Given the description of an element on the screen output the (x, y) to click on. 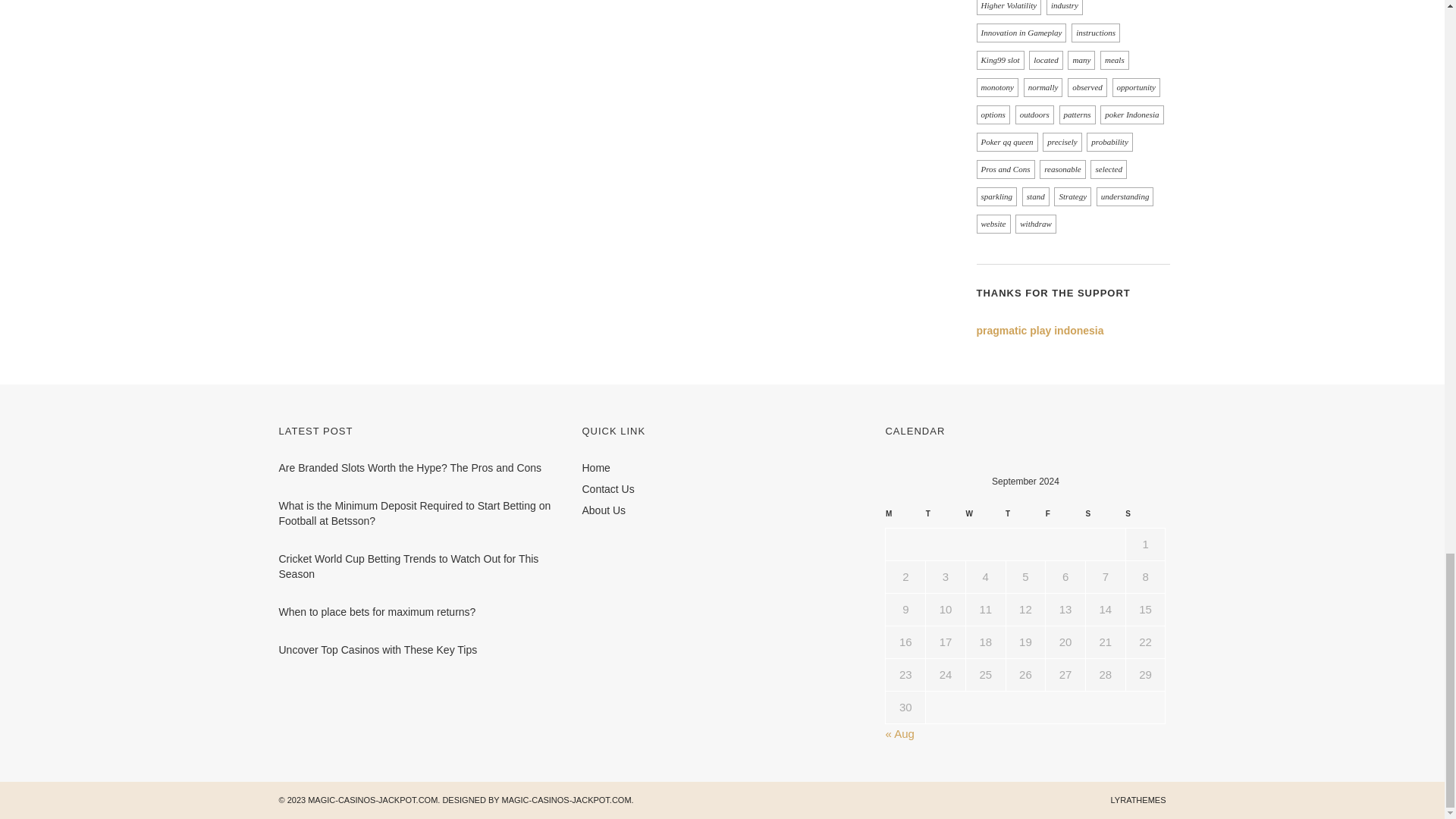
Wednesday (985, 517)
Saturday (1104, 517)
Friday (1065, 517)
Tuesday (946, 517)
Thursday (1025, 517)
Sunday (1145, 517)
Monday (905, 517)
